Given the description of an element on the screen output the (x, y) to click on. 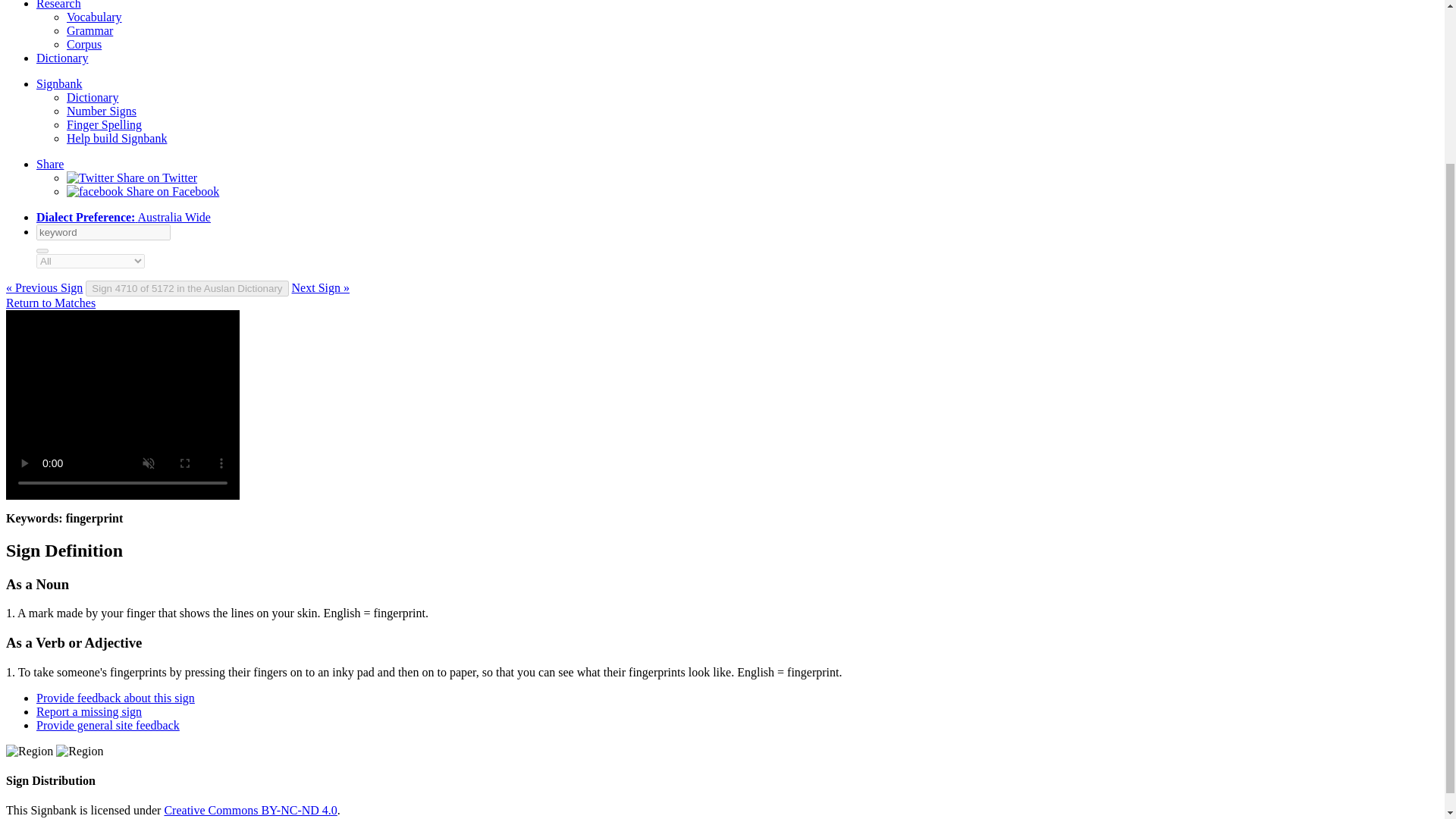
Dictionary (91, 97)
Grammar (89, 30)
Return to Matches (50, 302)
Share (50, 164)
Research (58, 4)
Number Signs (101, 110)
Signbank (58, 83)
Provide feedback about this sign (115, 697)
Creative Commons BY-NC-ND 4.0 (249, 809)
Sign 4710 of 5172 in the Auslan Dictionary (186, 288)
